Given the description of an element on the screen output the (x, y) to click on. 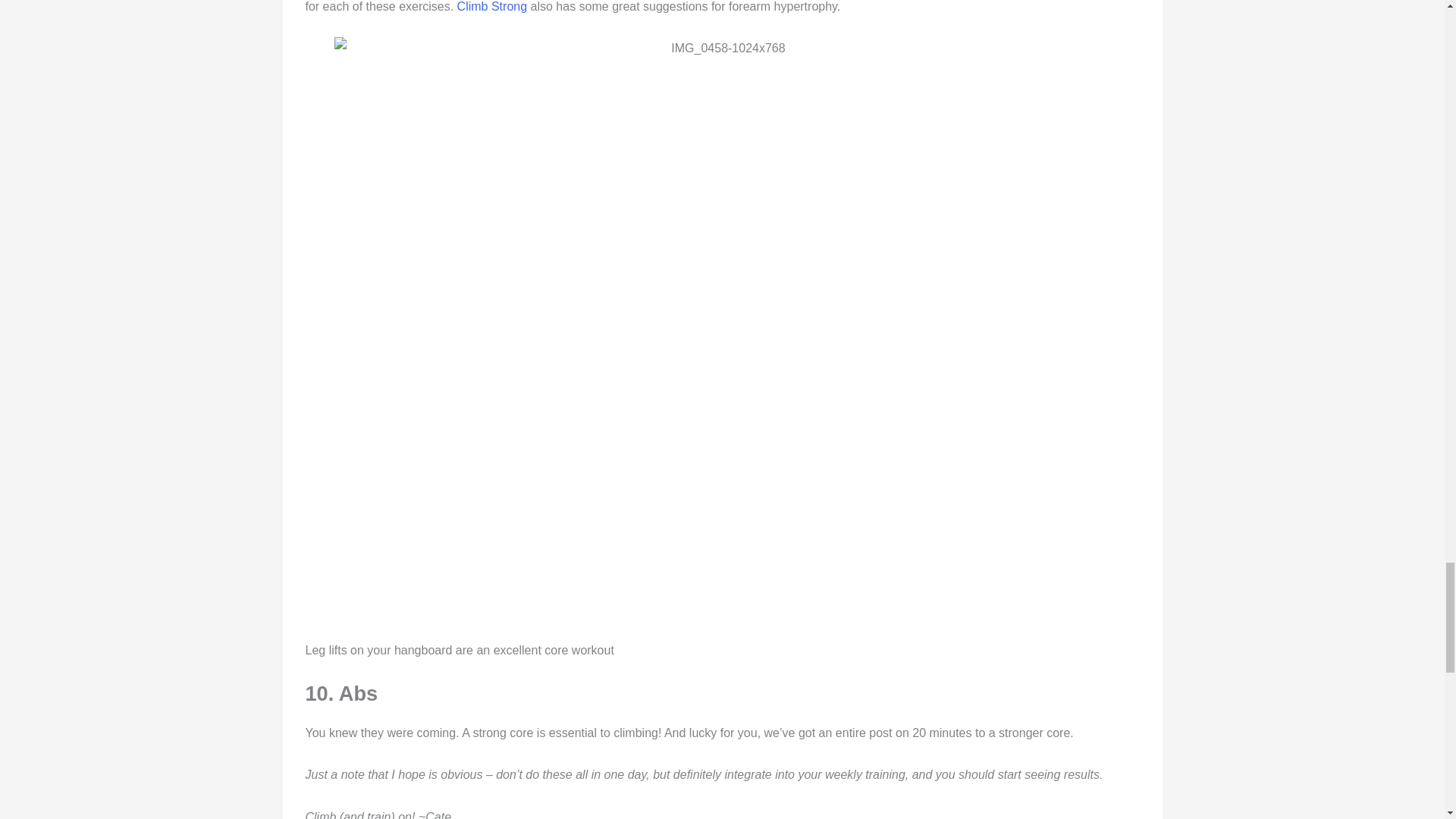
Climb Strong (492, 6)
